Given the description of an element on the screen output the (x, y) to click on. 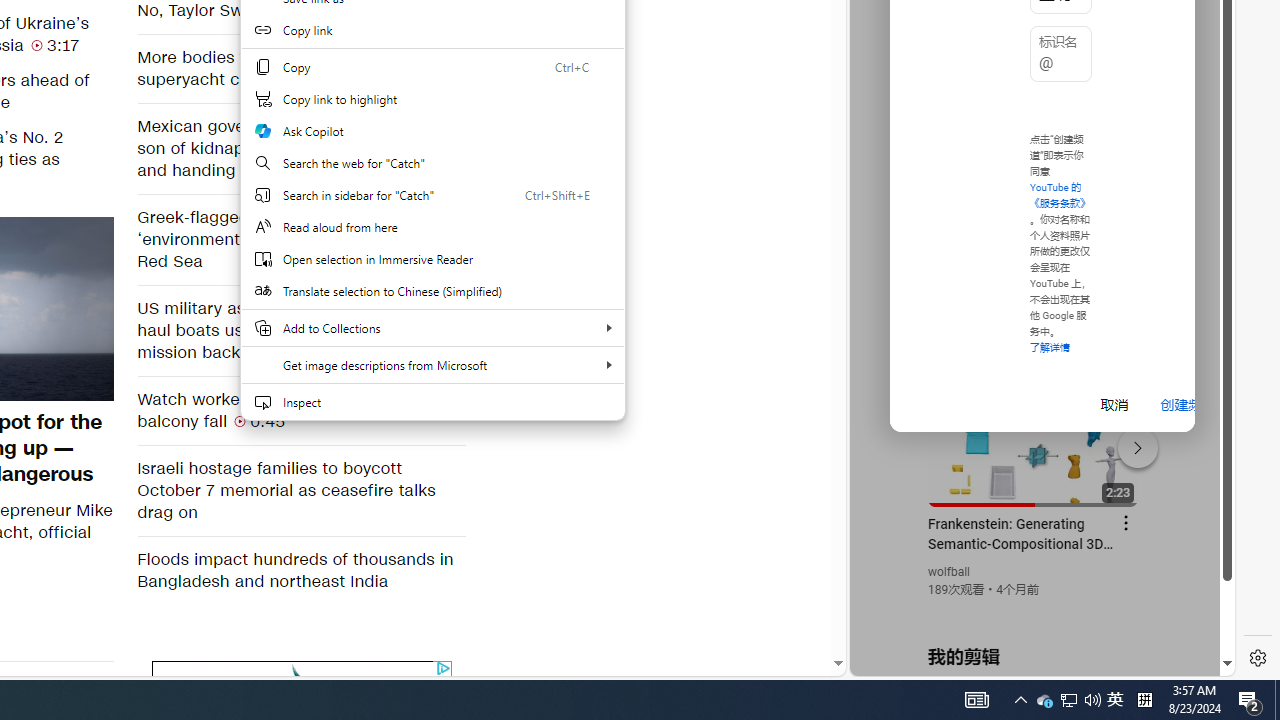
Ask Copilot (432, 130)
Search the web for "Catch" (432, 162)
wolfball (949, 572)
Click to scroll right (1196, 83)
Inspect (432, 401)
Copy link to highlight (432, 98)
